Given the description of an element on the screen output the (x, y) to click on. 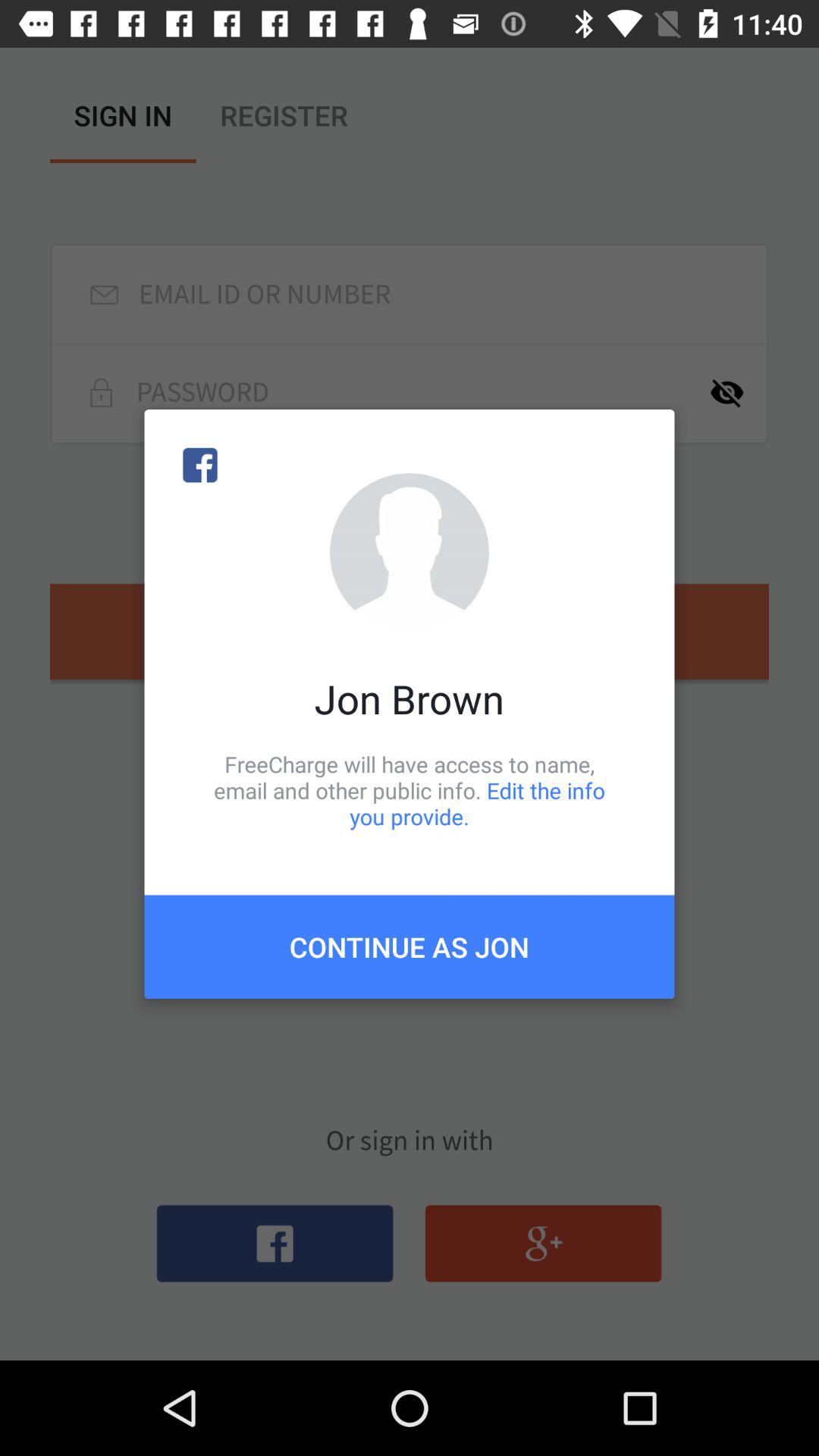
tap continue as jon (409, 946)
